Given the description of an element on the screen output the (x, y) to click on. 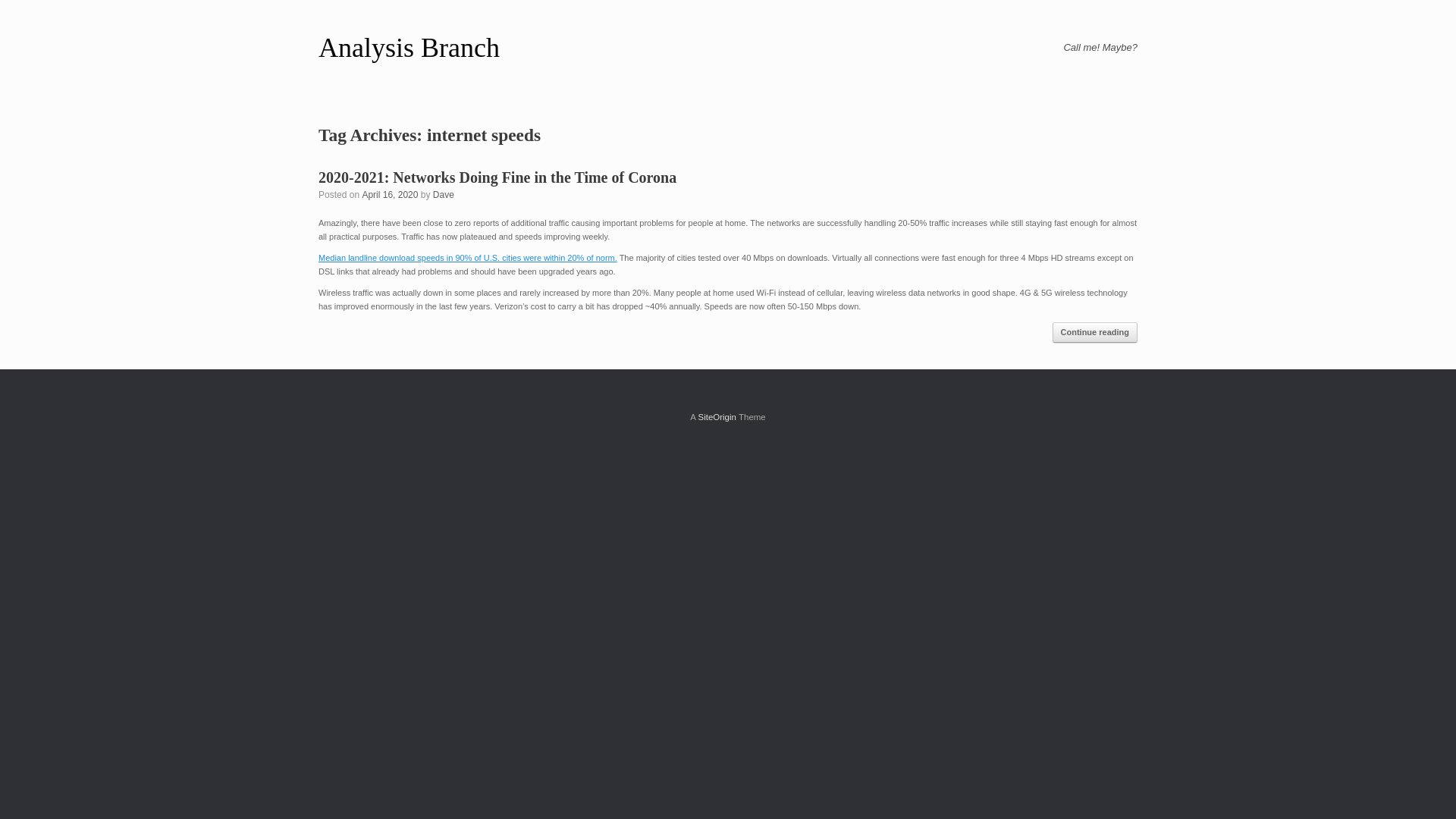
Dave (443, 194)
SiteOrigin (716, 416)
2020-2021: Networks Doing Fine in the Time of Corona (497, 176)
April 16, 2020 (389, 194)
View all posts by Dave (443, 194)
8:01 am (389, 194)
Analysis Branch (408, 47)
Continue reading (1094, 332)
Analysis Branch (408, 47)
